Given the description of an element on the screen output the (x, y) to click on. 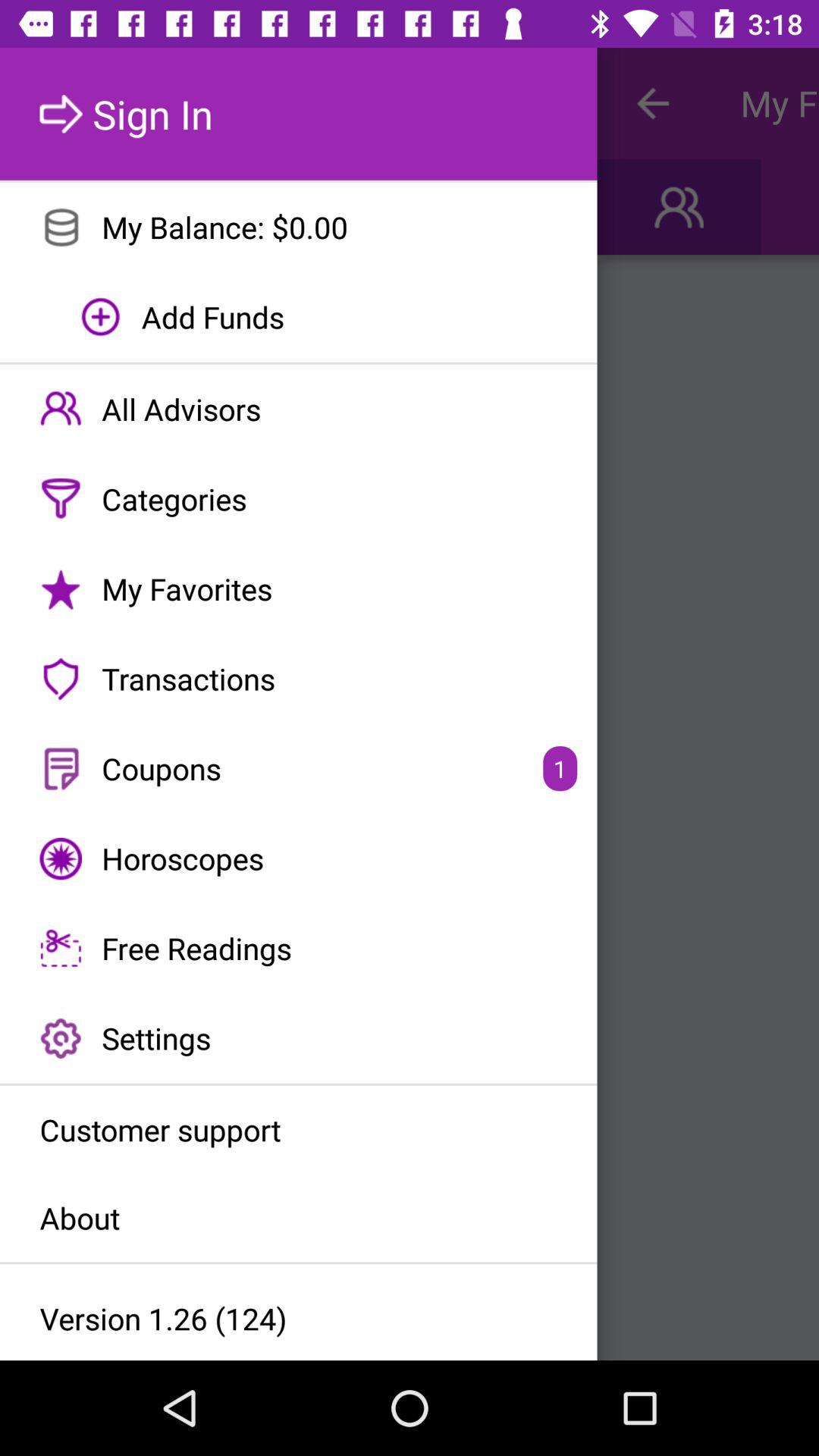
click icon below the free readings icon (298, 1038)
